Given the description of an element on the screen output the (x, y) to click on. 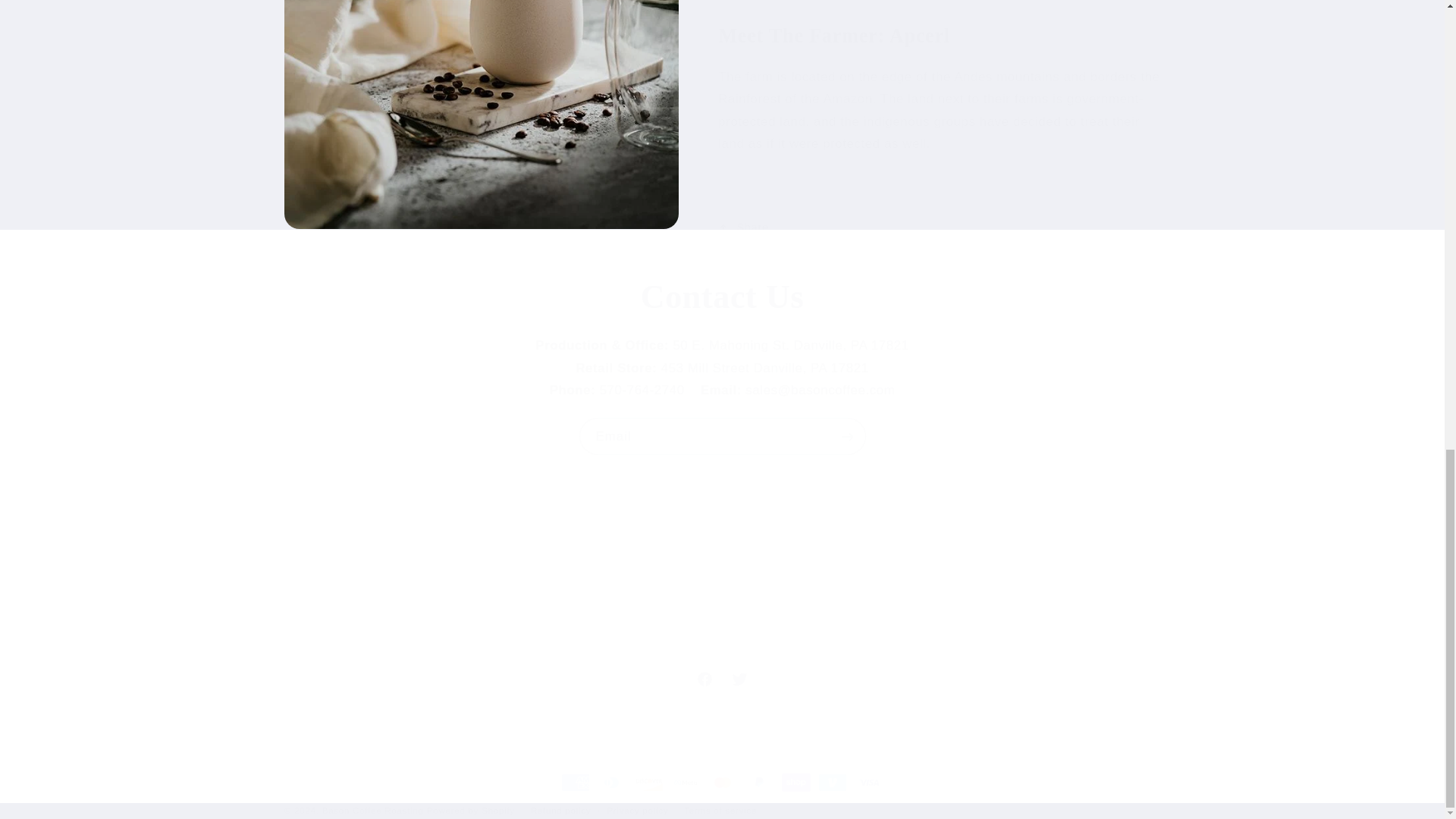
Contact Us (721, 678)
Email (722, 297)
